Given the description of an element on the screen output the (x, y) to click on. 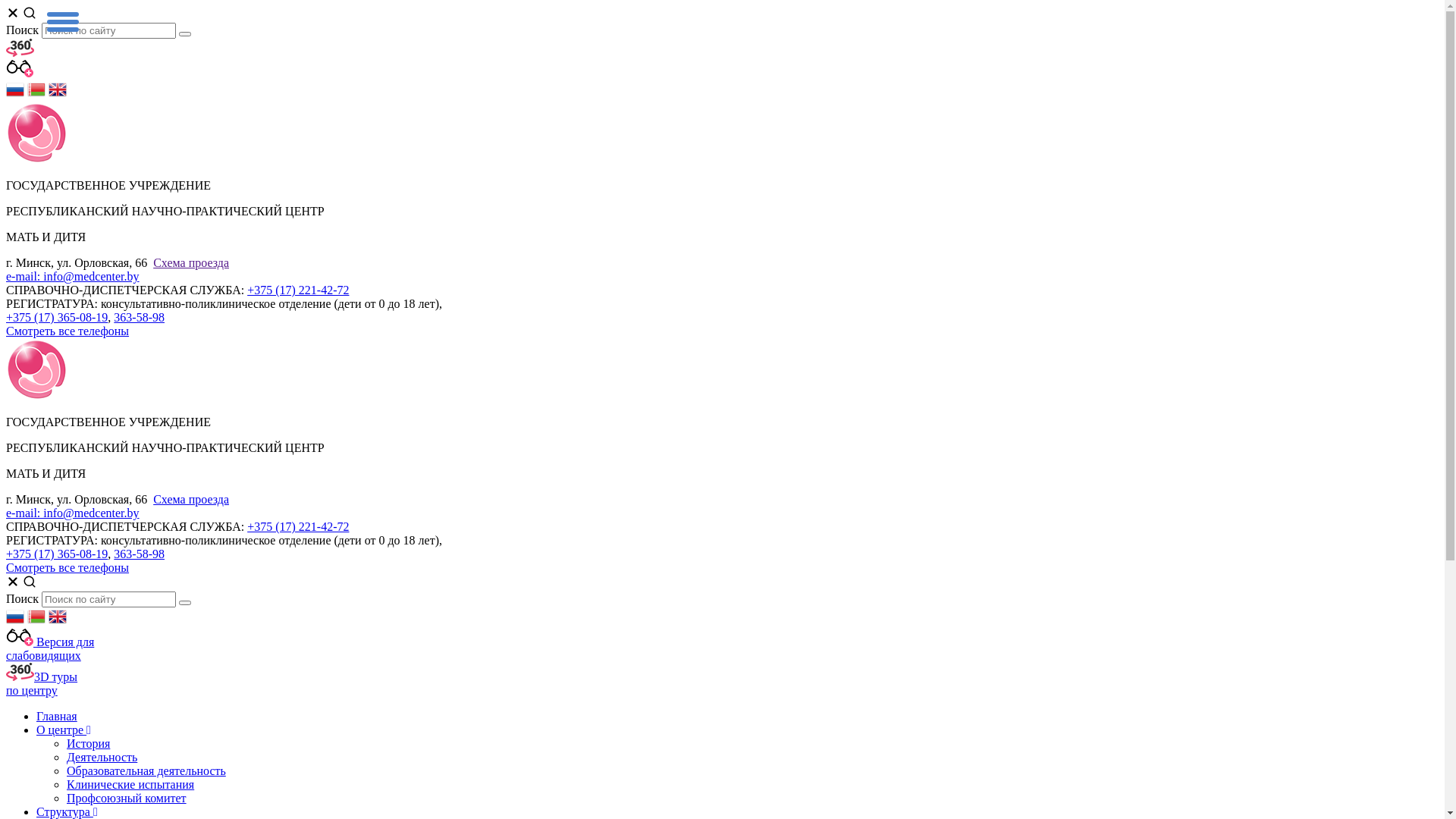
English Element type: hover (57, 93)
Belarusian Element type: hover (36, 93)
Russian Element type: hover (15, 93)
+375 (17) 221-42-72 Element type: text (297, 526)
e-mail: info@medcenter.by Element type: text (72, 512)
e-mail: info@medcenter.by Element type: text (72, 275)
Russian Element type: hover (15, 621)
363-58-98 Element type: text (138, 553)
+375 (17) 365-08-19 Element type: text (56, 553)
+375 (17) 221-42-72 Element type: text (297, 289)
+375 (17) 365-08-19 Element type: text (56, 316)
English Element type: hover (57, 621)
363-58-98 Element type: text (138, 316)
Belarusian Element type: hover (36, 621)
